Given the description of an element on the screen output the (x, y) to click on. 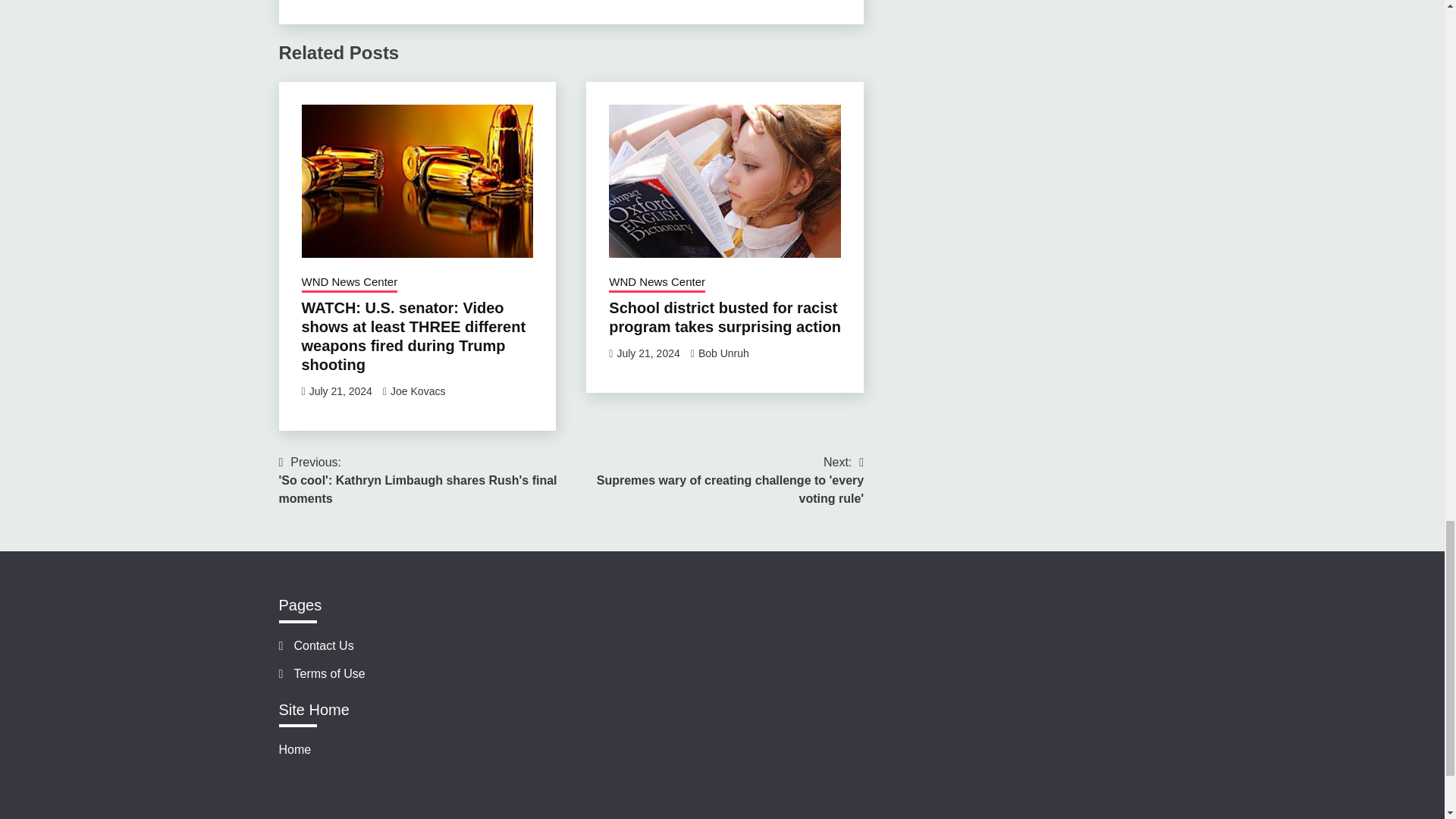
July 21, 2024 (647, 353)
Bob Unruh (723, 353)
WND News Center (656, 283)
July 21, 2024 (340, 390)
Joe Kovacs (417, 390)
WND News Center (349, 283)
